Given the description of an element on the screen output the (x, y) to click on. 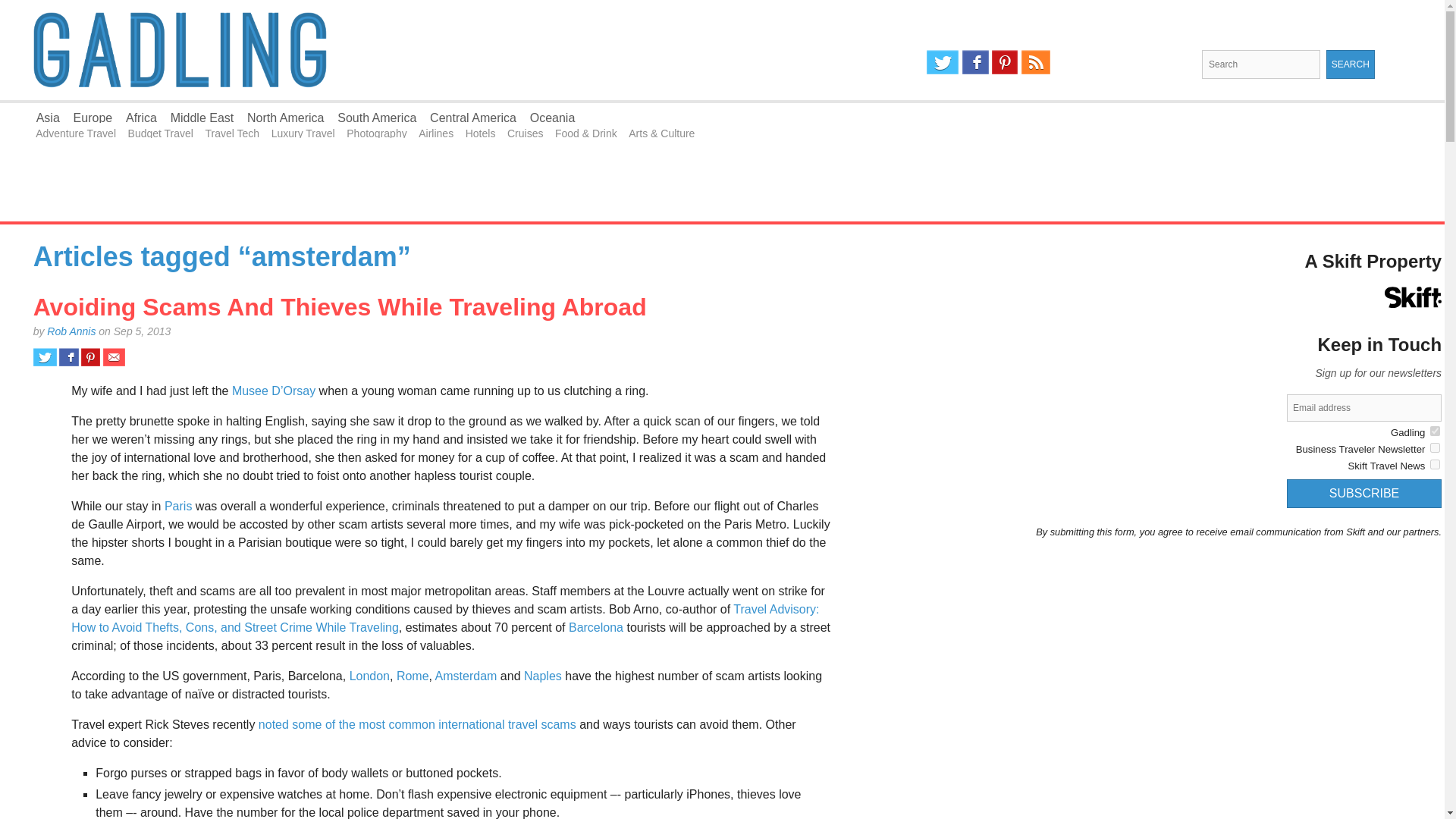
Share on Pinterest (90, 357)
Search (1350, 63)
Facebook (975, 61)
Europe (93, 117)
Adventure Travel (75, 133)
Rome (412, 675)
Naples (543, 675)
Share via email (114, 357)
Share on Twitter (44, 357)
Avoiding Scams And Thieves While Traveling Abroad (339, 307)
Middle East (202, 117)
Gadling (360, 49)
Photography (376, 133)
London (369, 675)
